Given the description of an element on the screen output the (x, y) to click on. 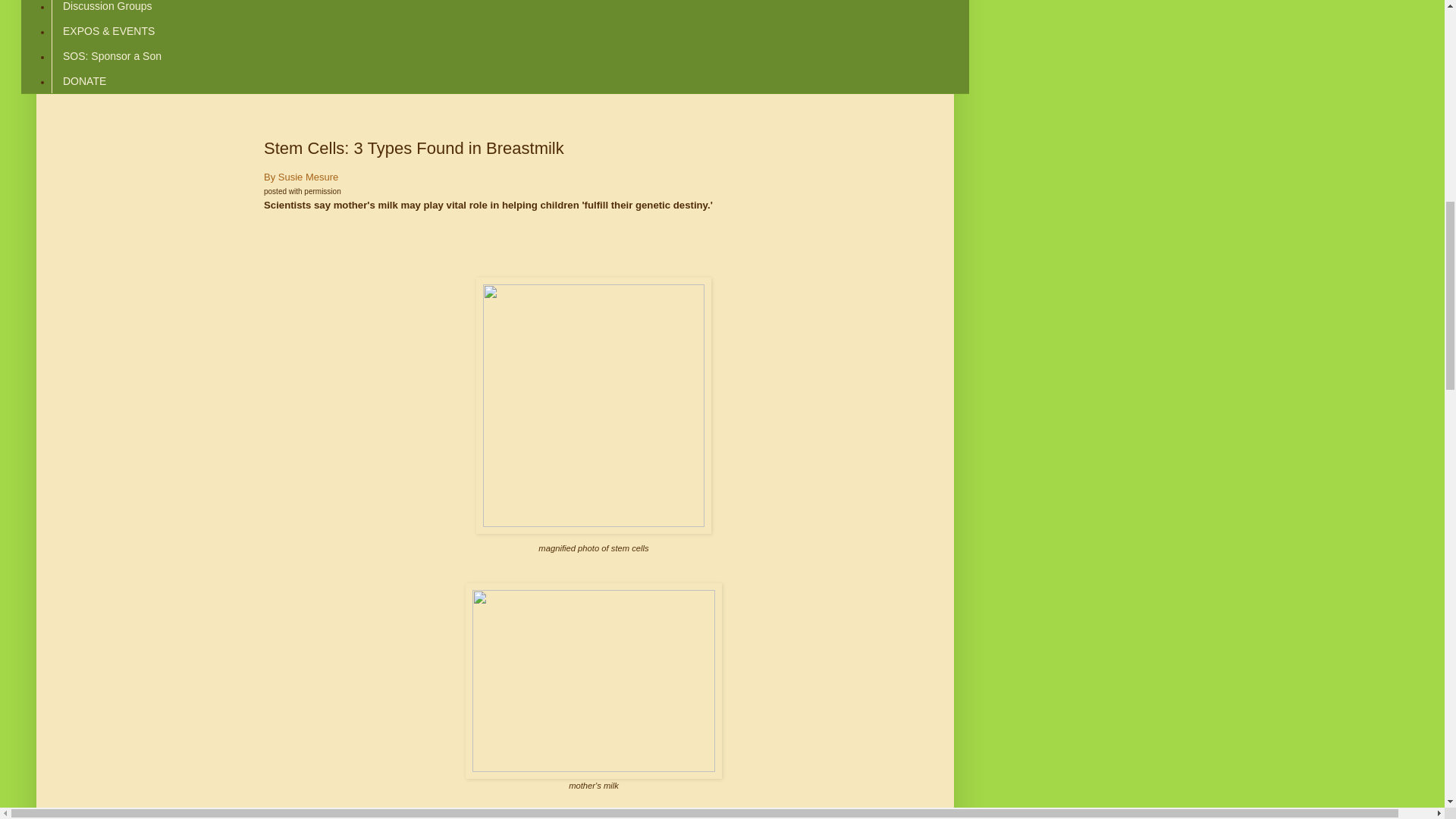
SOS: Sponsor a Son (110, 56)
Discussion Groups (106, 9)
By Susie Mesure (300, 176)
DONATE (83, 80)
